Given the description of an element on the screen output the (x, y) to click on. 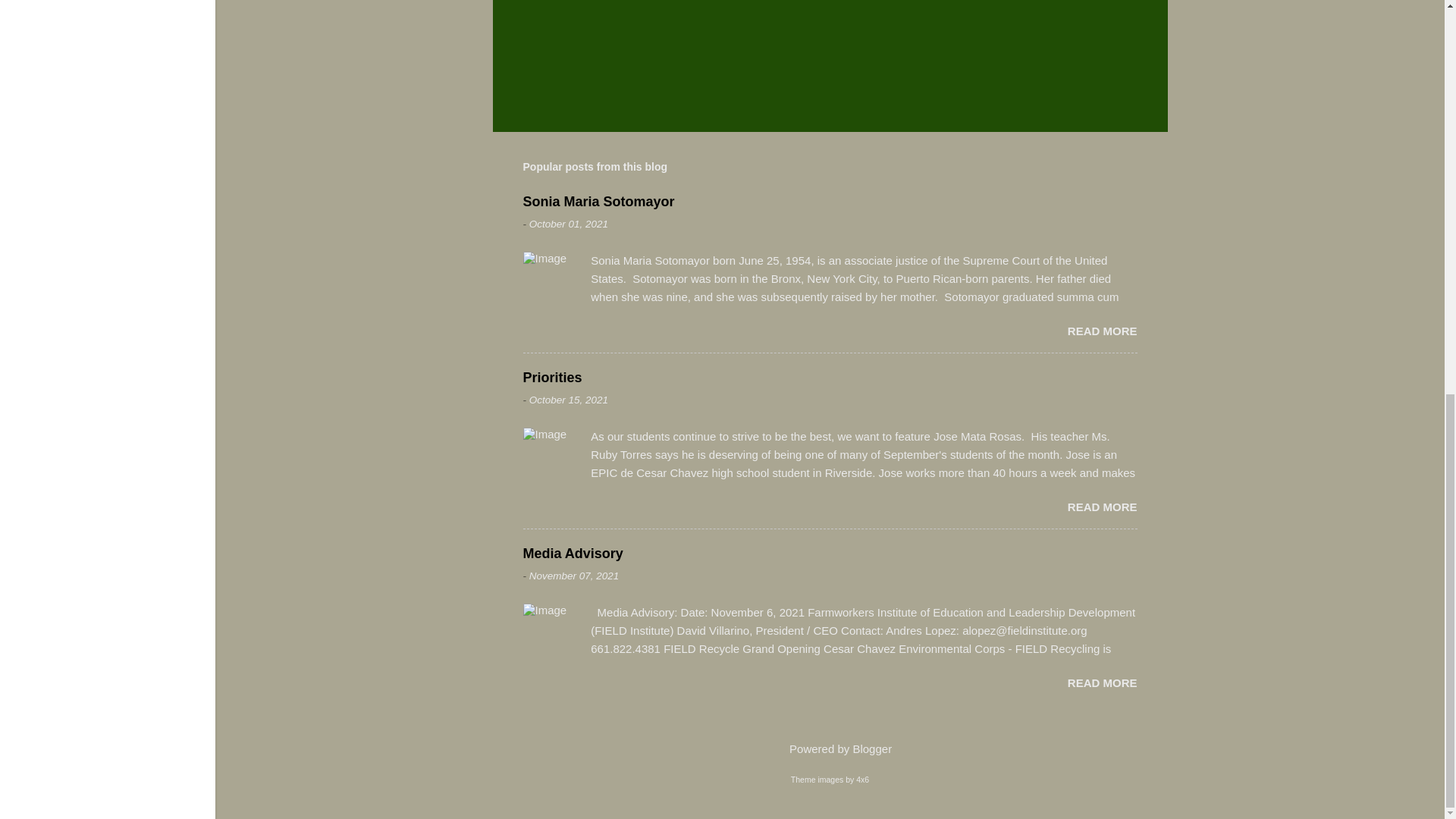
READ MORE (1102, 506)
READ MORE (1102, 682)
October 01, 2021 (568, 224)
permanent link (568, 224)
Media Advisory (572, 553)
READ MORE (1102, 330)
Priorities (552, 377)
Powered by Blogger (829, 748)
permanent link (574, 575)
4x6 (862, 778)
Media Advisory (1102, 682)
Sonia Maria Sotomayor (598, 201)
October 15, 2021 (568, 399)
November 07, 2021 (574, 575)
Priorities  (1102, 506)
